Given the description of an element on the screen output the (x, y) to click on. 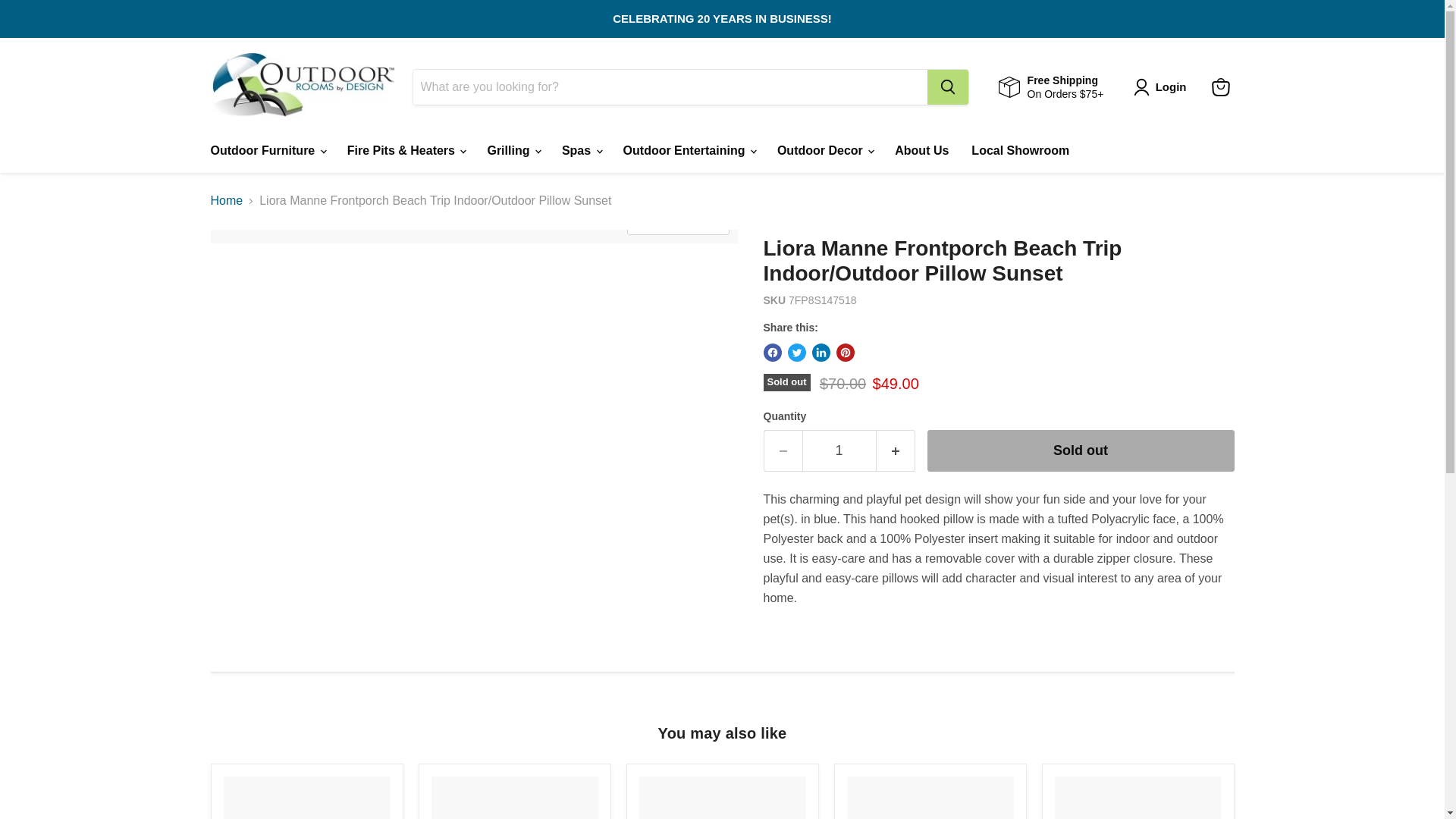
1 (839, 450)
View cart (1220, 87)
Login (1163, 86)
